Given the description of an element on the screen output the (x, y) to click on. 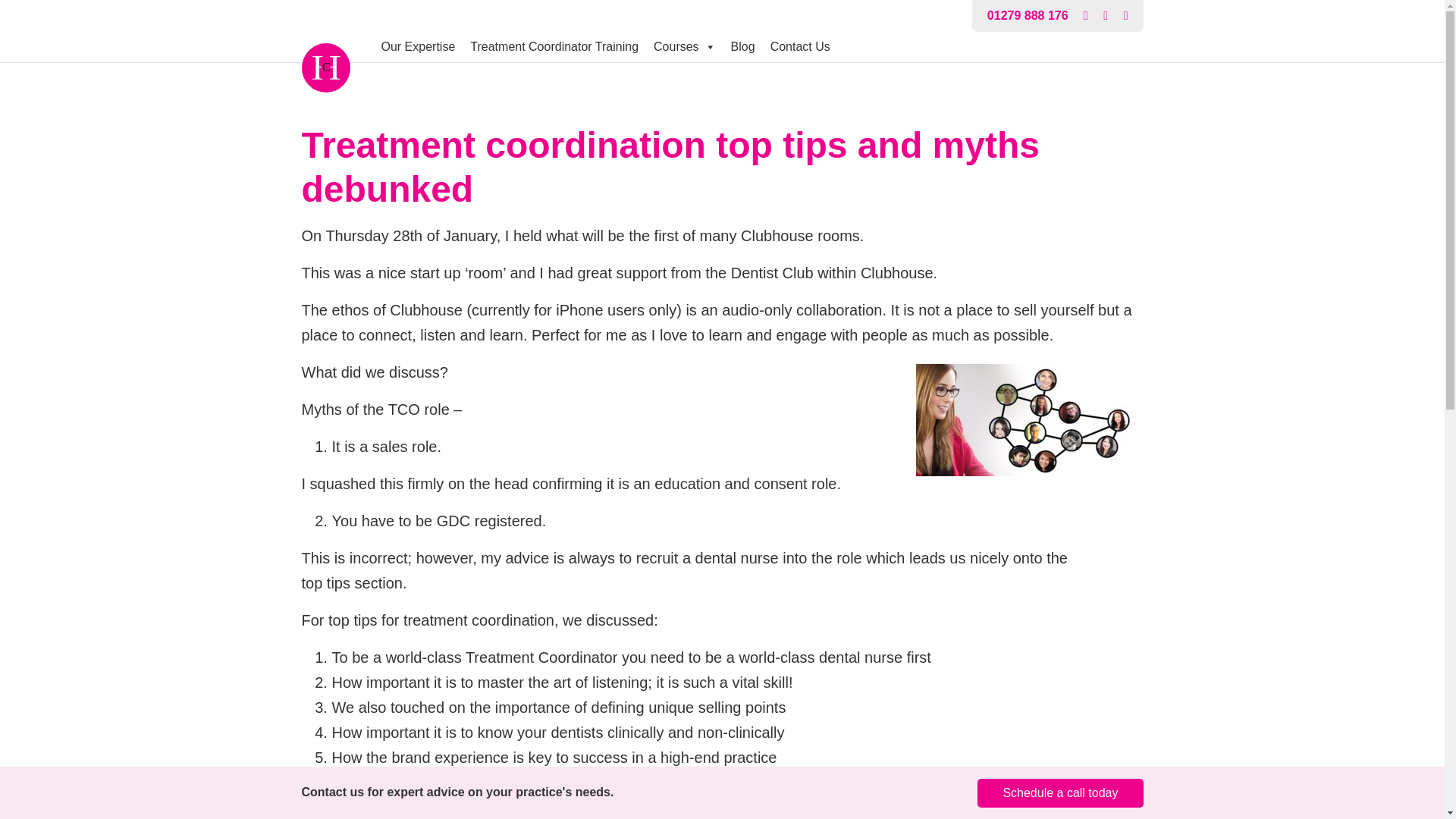
Our Expertise (417, 46)
Blog (742, 46)
Courses (684, 46)
01279 888 176 (1027, 15)
Schedule a call today (1059, 792)
Treatment Coordinator Training (554, 46)
Contact Us (800, 46)
